Given the description of an element on the screen output the (x, y) to click on. 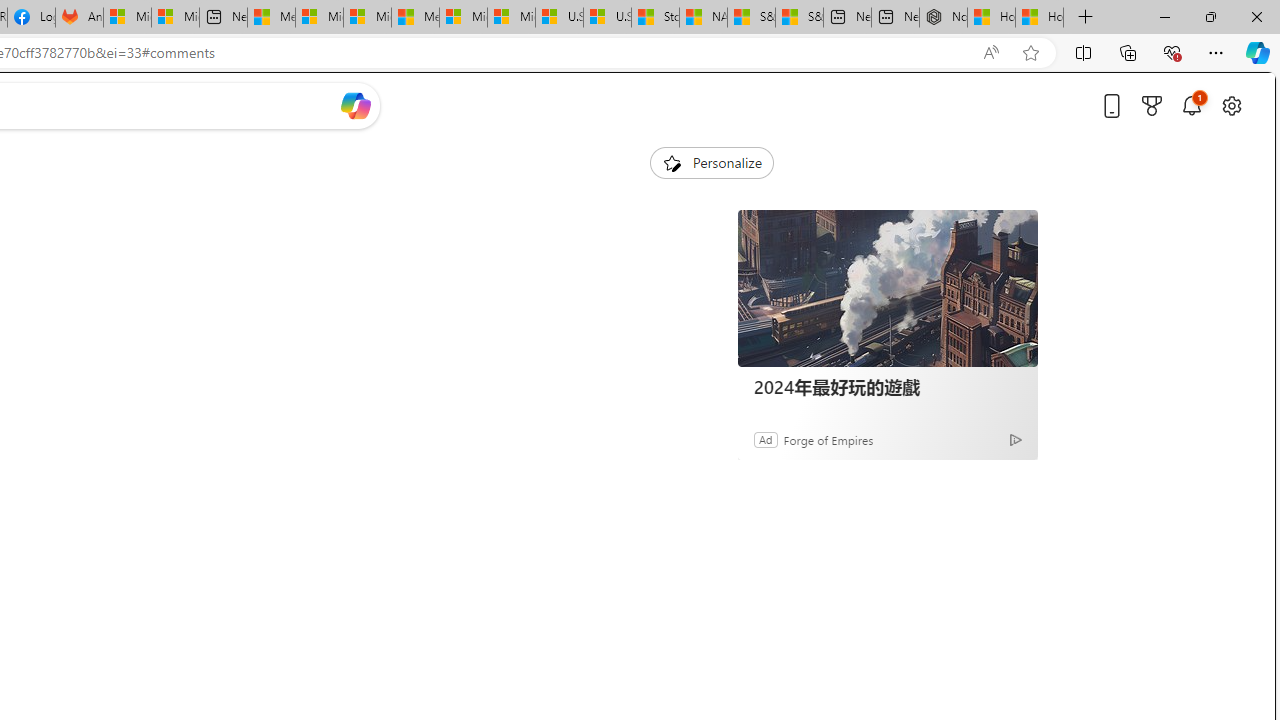
Microsoft account | Home (367, 17)
How to Use a Monitor With Your Closed Laptop (1039, 17)
To get missing image descriptions, open the context menu. (671, 162)
Microsoft rewards (1151, 105)
Open settings (1231, 105)
Forge of Empires (828, 439)
